Given the description of an element on the screen output the (x, y) to click on. 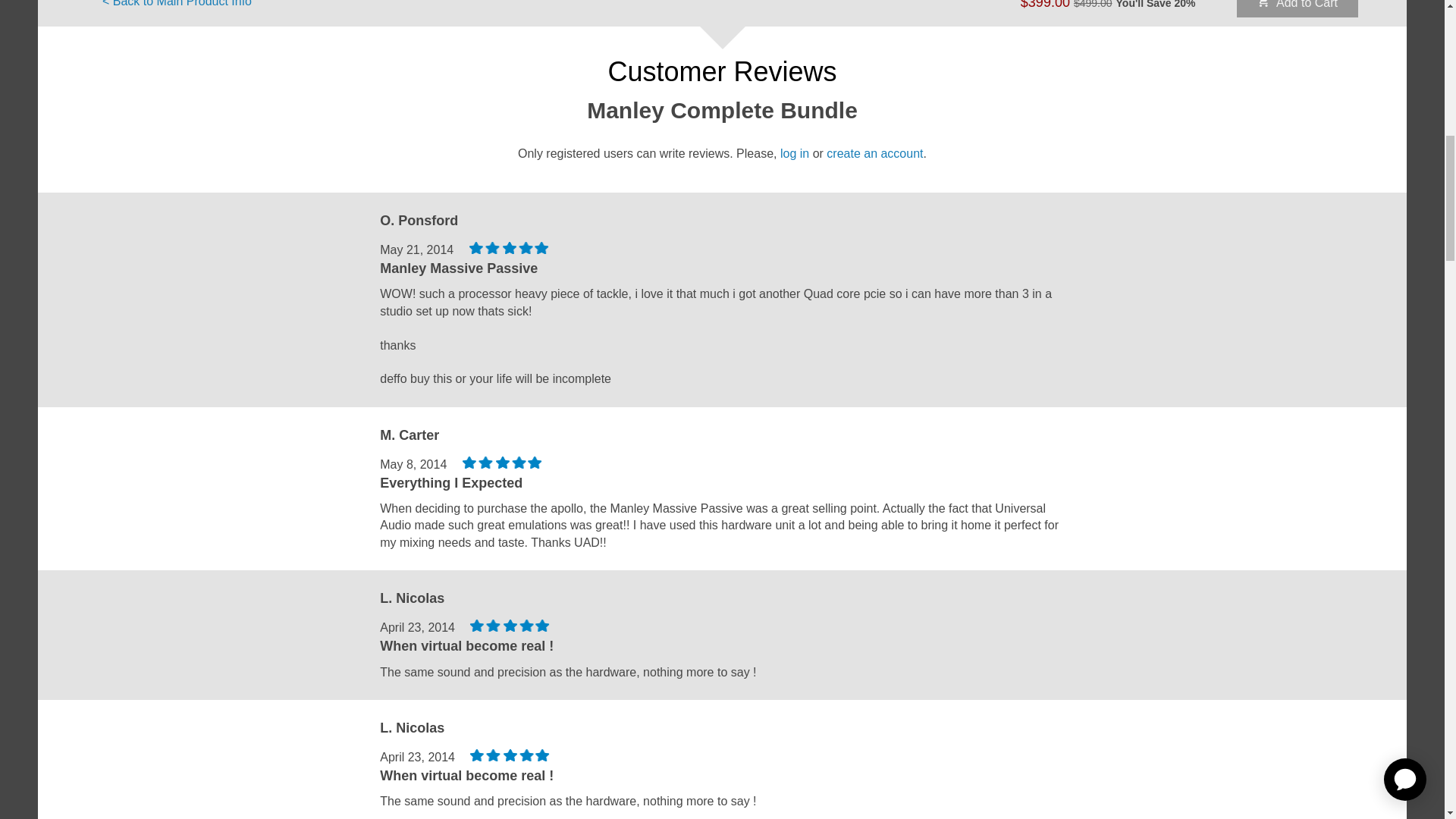
Back to Main Product Info (177, 6)
Add to Cart (1297, 8)
Add to Cart (1297, 8)
